Given the description of an element on the screen output the (x, y) to click on. 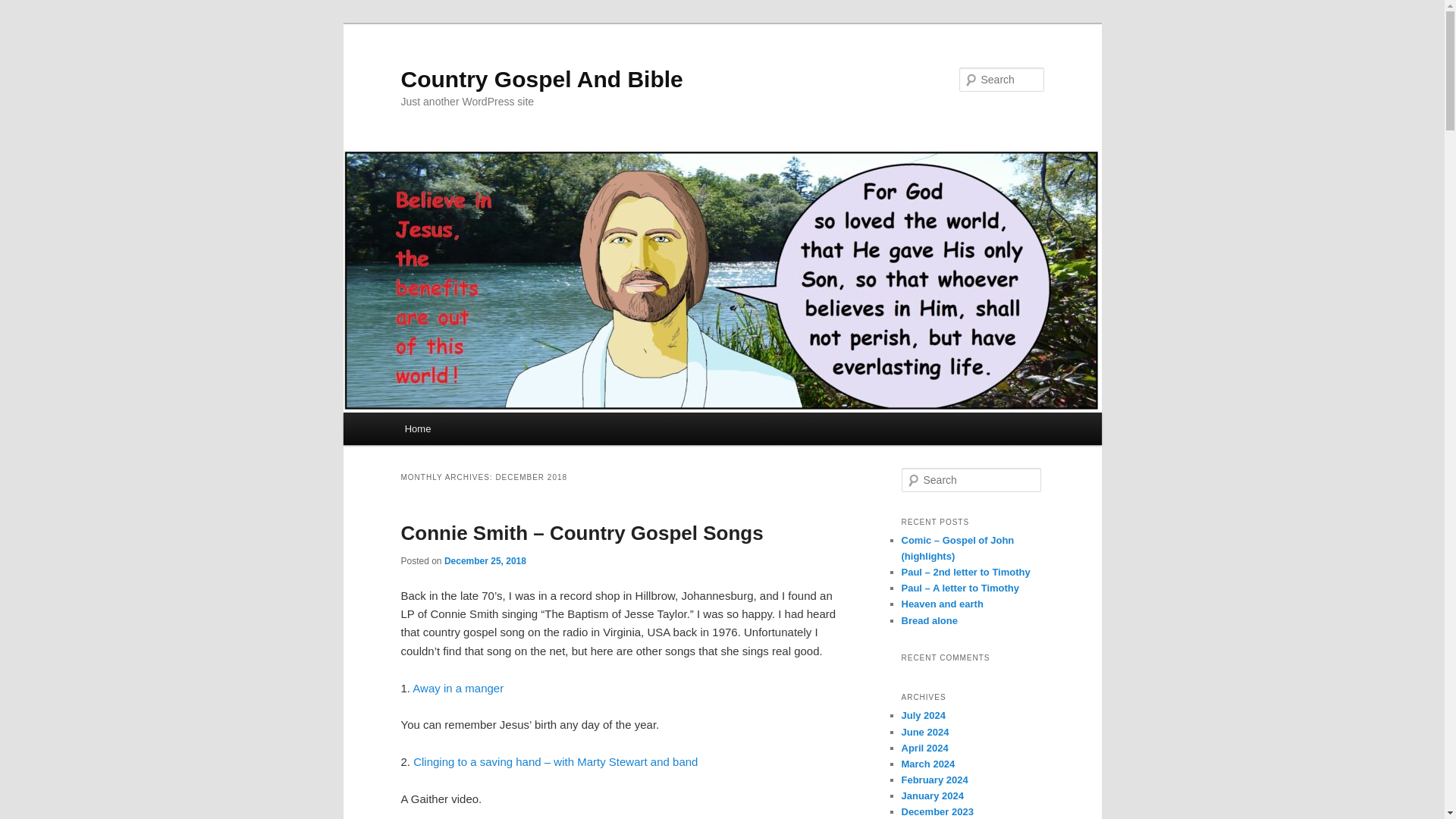
8:46 pm (484, 561)
Search (24, 8)
Country Gospel And Bible (541, 78)
Home (417, 428)
December 25, 2018 (484, 561)
Away in a manger (457, 687)
